Given the description of an element on the screen output the (x, y) to click on. 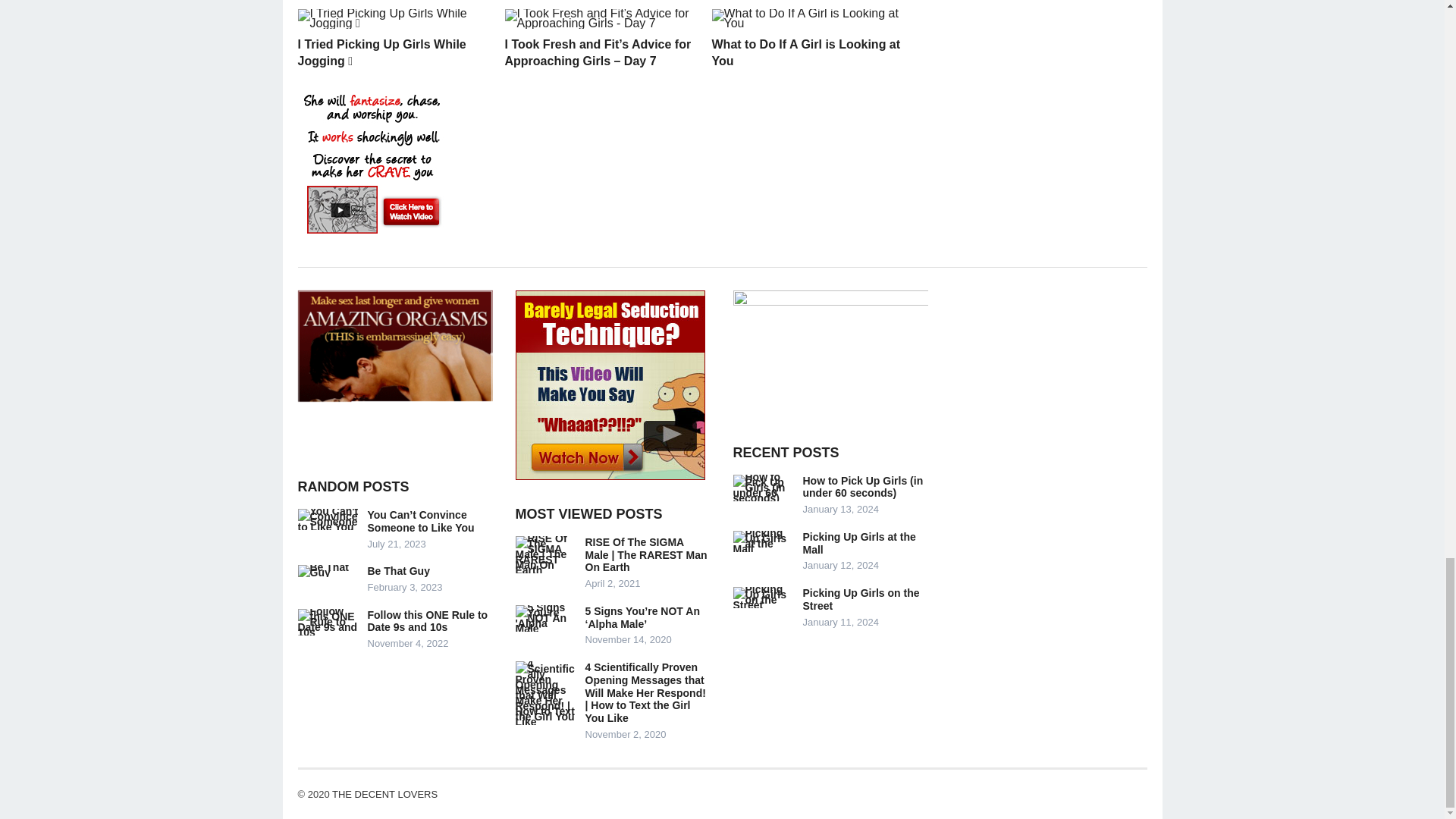
What to Do If A Girl is Looking at You 12 (805, 18)
Be That Guy 14 (327, 571)
5 Signs You're NOT An 'Alpha Male' 17 (545, 618)
Follow this ONE Rule to Date 9s and 10s 15 (327, 622)
You Can't Convince Someone to Like You 13 (327, 518)
